Given the description of an element on the screen output the (x, y) to click on. 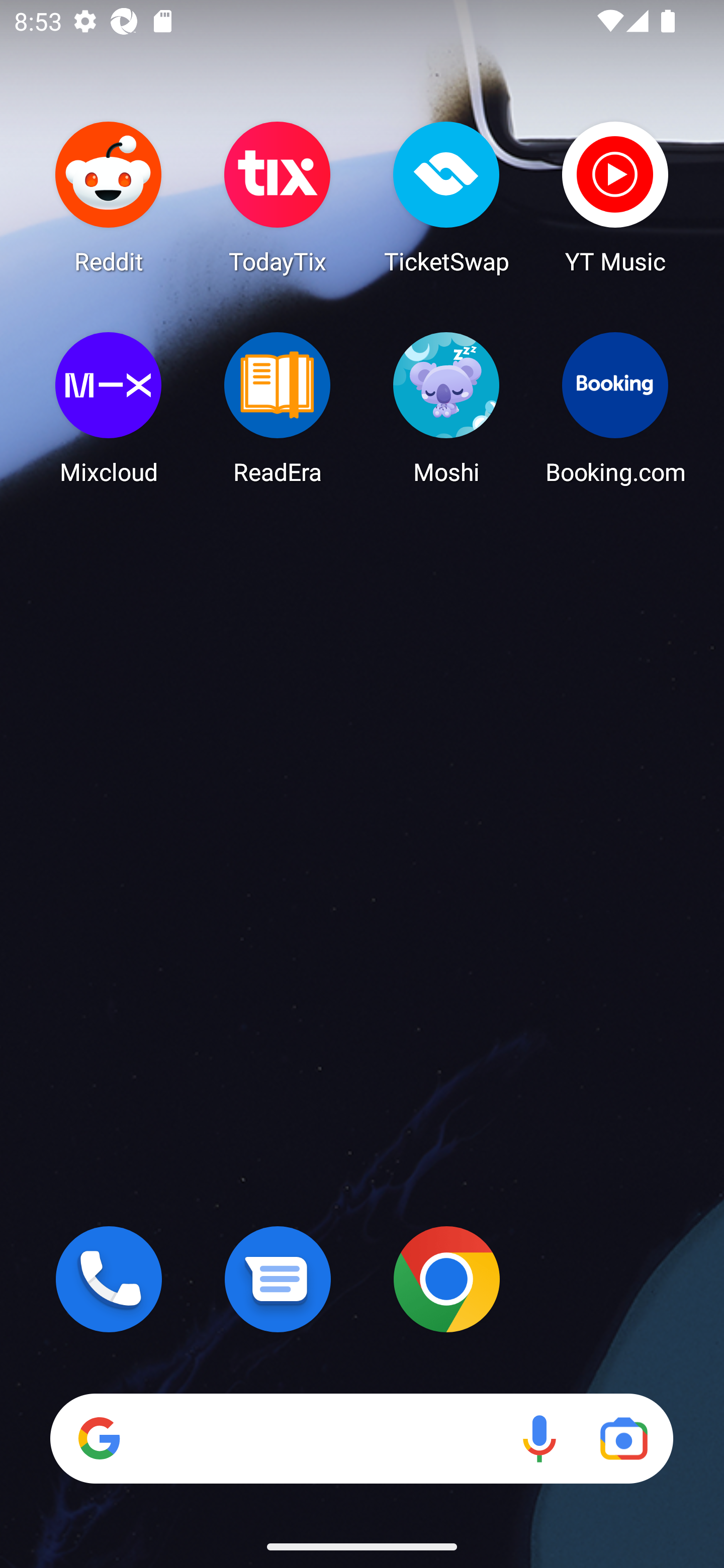
Reddit (108, 196)
TodayTix (277, 196)
TicketSwap (445, 196)
YT Music (615, 196)
Mixcloud (108, 407)
ReadEra (277, 407)
Moshi (445, 407)
Booking.com (615, 407)
Phone (108, 1279)
Messages (277, 1279)
Chrome (446, 1279)
Search Voice search Google Lens (361, 1438)
Voice search (539, 1438)
Google Lens (623, 1438)
